Given the description of an element on the screen output the (x, y) to click on. 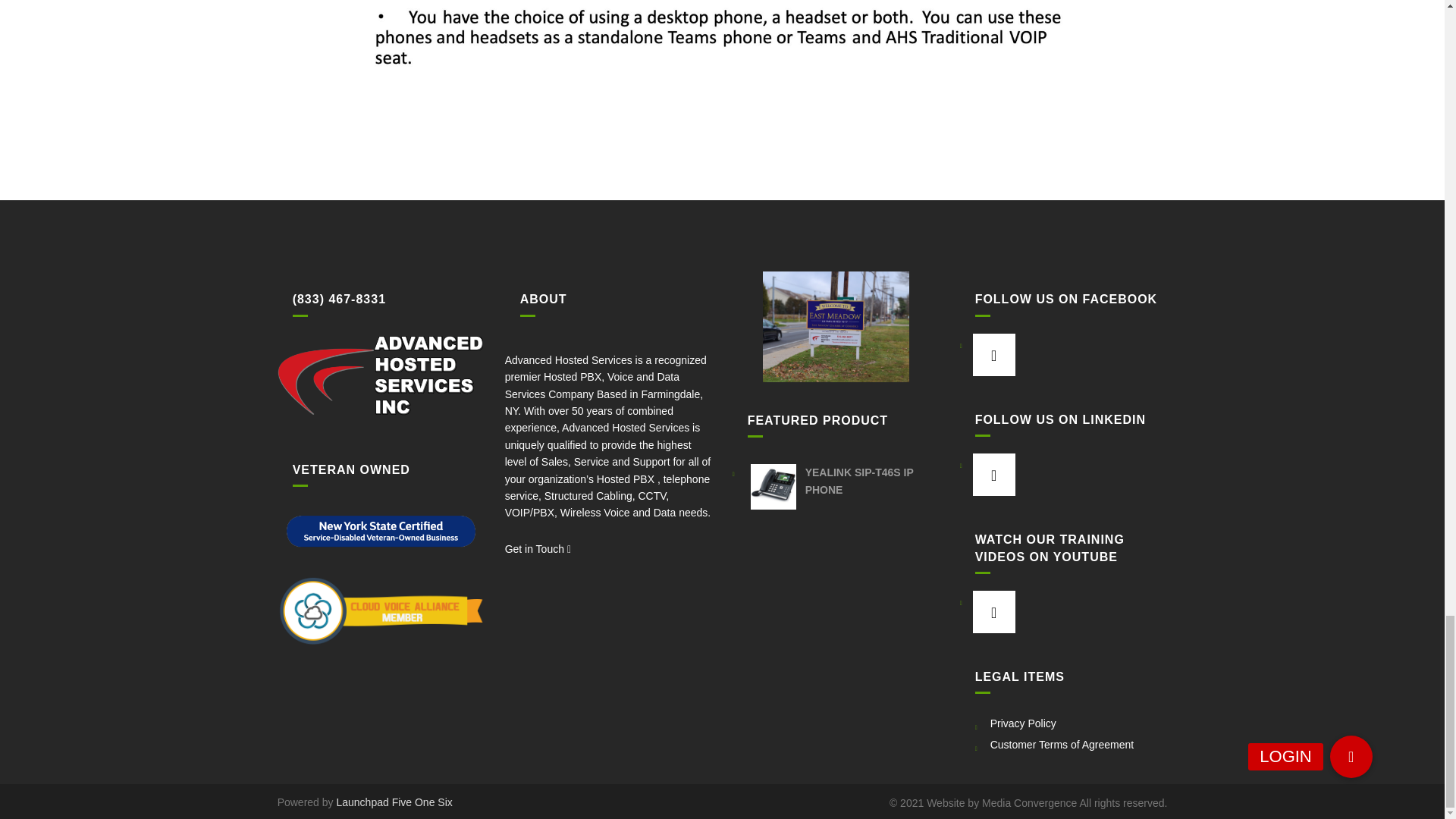
YEALINK SIP-T46S IP PHONE (836, 480)
Screen Shot 2021-05-11 at 4.13.03 PM (722, 72)
Get in Touch (537, 548)
